Given the description of an element on the screen output the (x, y) to click on. 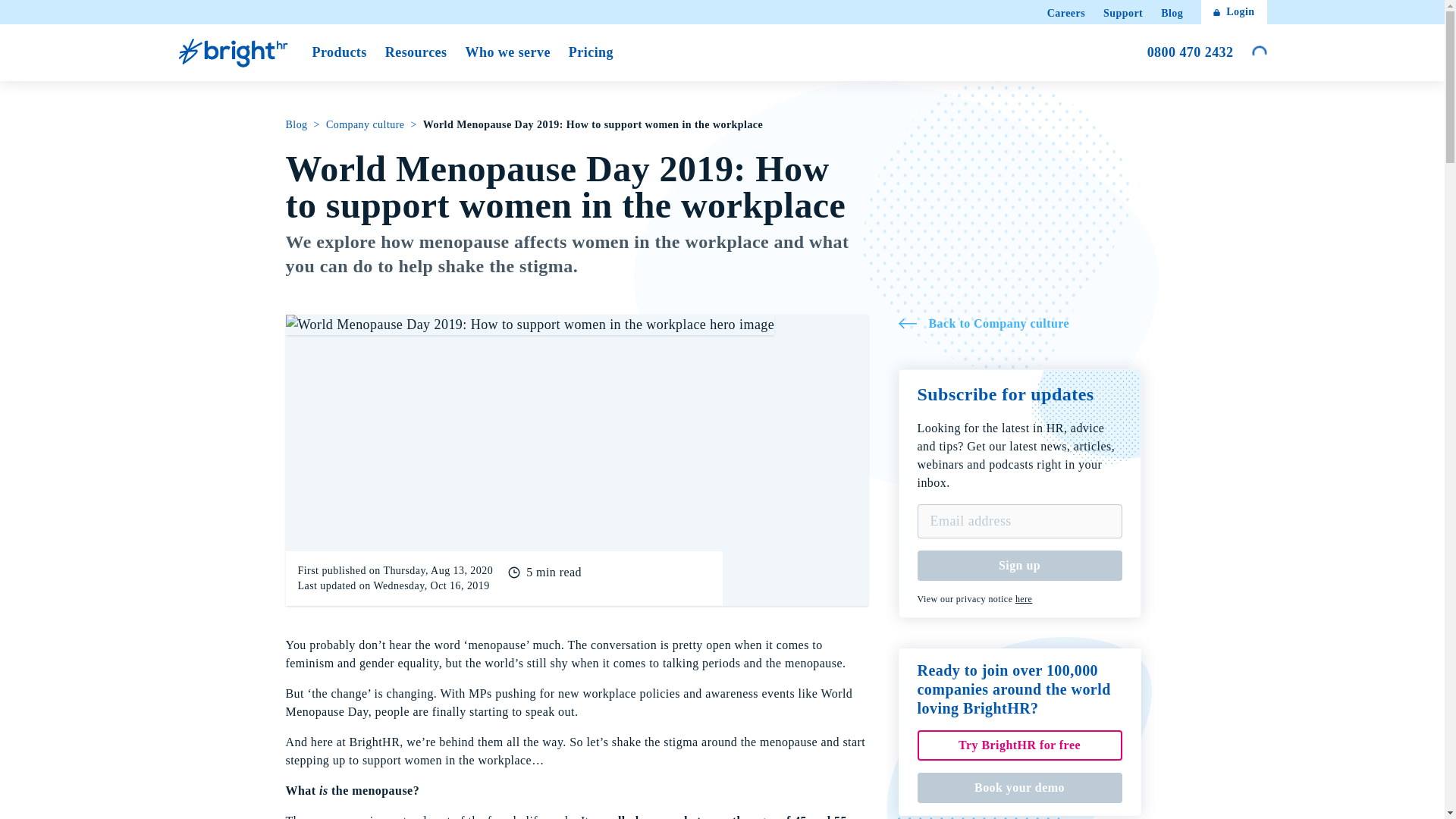
Company culture (365, 124)
BrightHR logo (1023, 598)
Blog (235, 51)
Support (296, 124)
Login (1122, 13)
Careers (1233, 12)
Back to Company culture (1065, 13)
Try BrightHR for free (1019, 323)
